Given the description of an element on the screen output the (x, y) to click on. 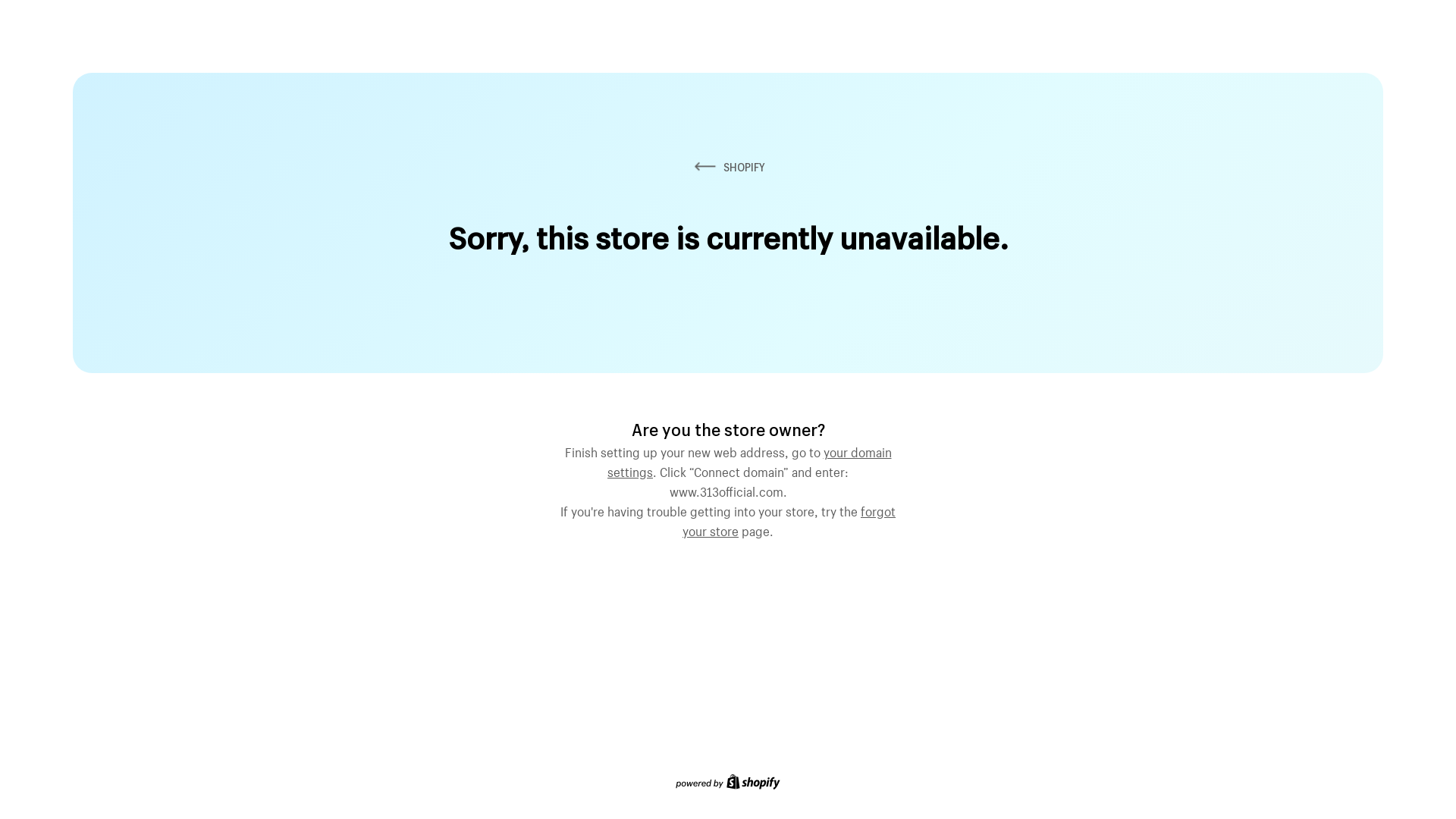
forgot your store Element type: text (788, 519)
SHOPIFY Element type: text (727, 167)
your domain settings Element type: text (749, 460)
